Given the description of an element on the screen output the (x, y) to click on. 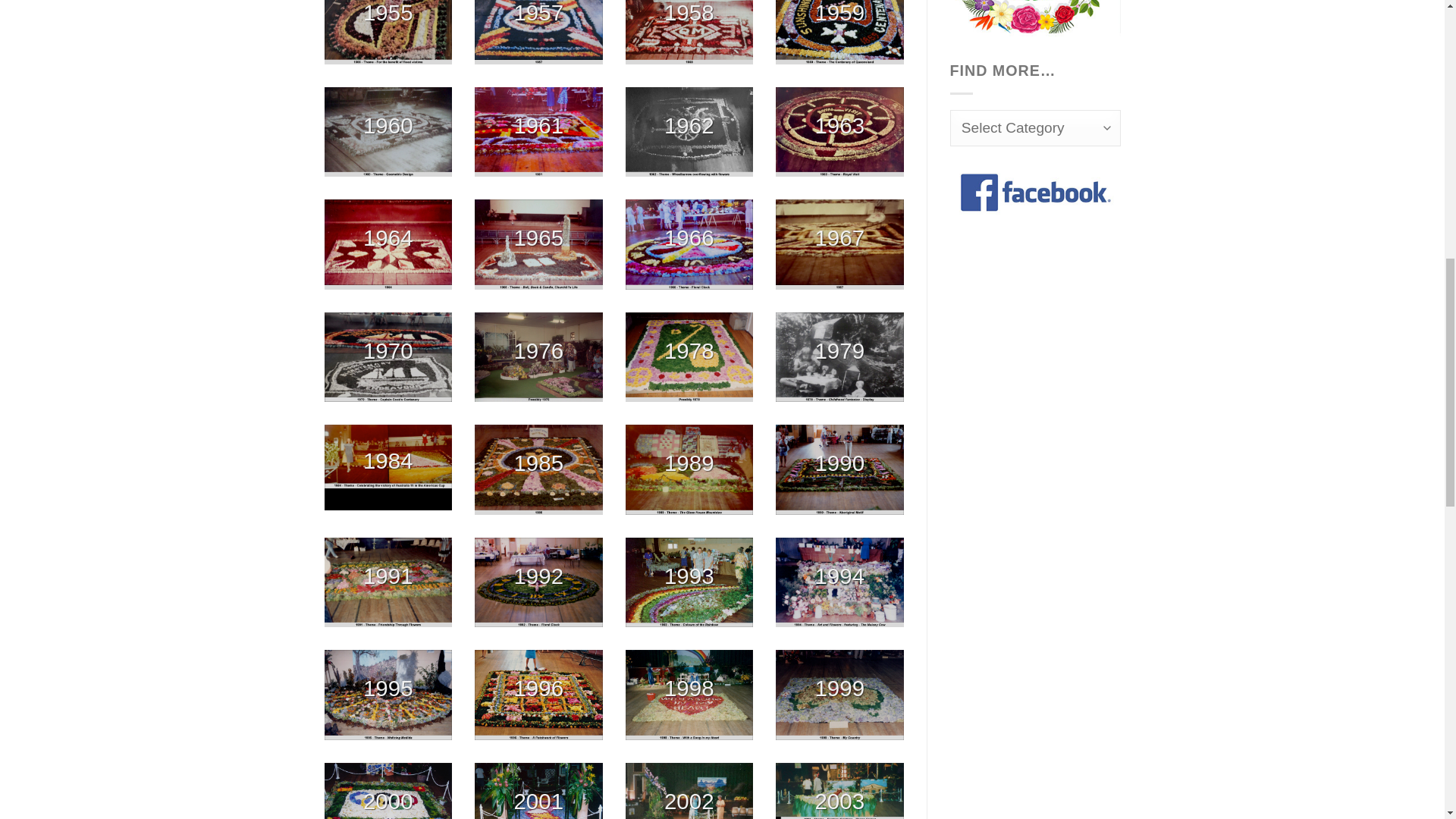
1962 (688, 131)
1965 (538, 244)
1964 (388, 244)
1966 (688, 244)
1978 (688, 357)
1959 (840, 31)
1957 (538, 31)
1976 (538, 357)
1958 (688, 31)
1967 (840, 244)
1955 (388, 31)
1963 (840, 131)
1970 (388, 357)
1979 (840, 357)
1961 (538, 131)
